Given the description of an element on the screen output the (x, y) to click on. 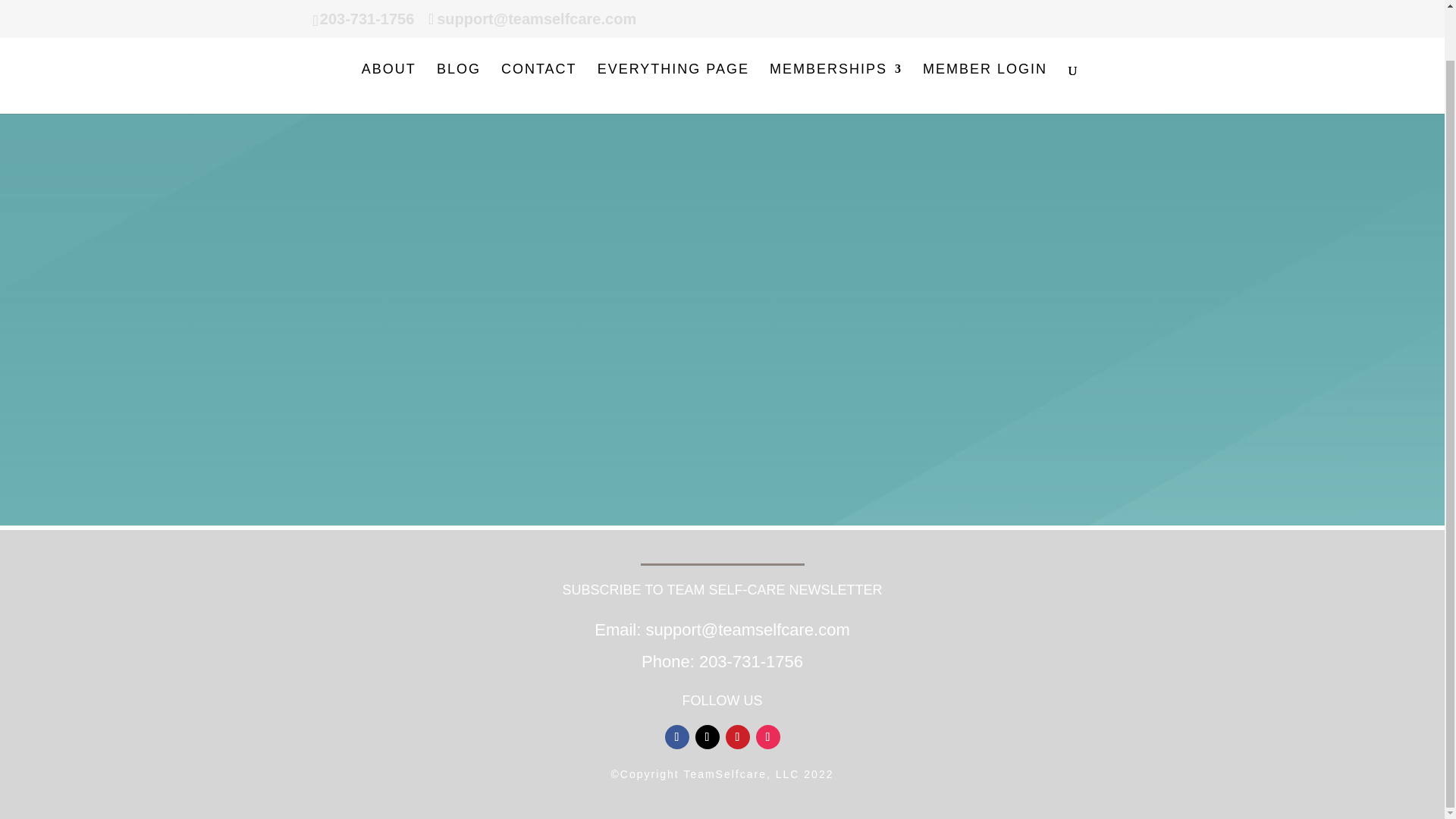
ABOUT (388, 34)
Follow on Facebook (675, 736)
Follow on Pinterest (737, 736)
MEMBER LOGIN (984, 34)
Follow on Twitter (706, 736)
Follow on Instagram (766, 736)
EVERYTHING PAGE (672, 34)
CONTACT (538, 34)
MEMBERSHIPS (836, 34)
